Given the description of an element on the screen output the (x, y) to click on. 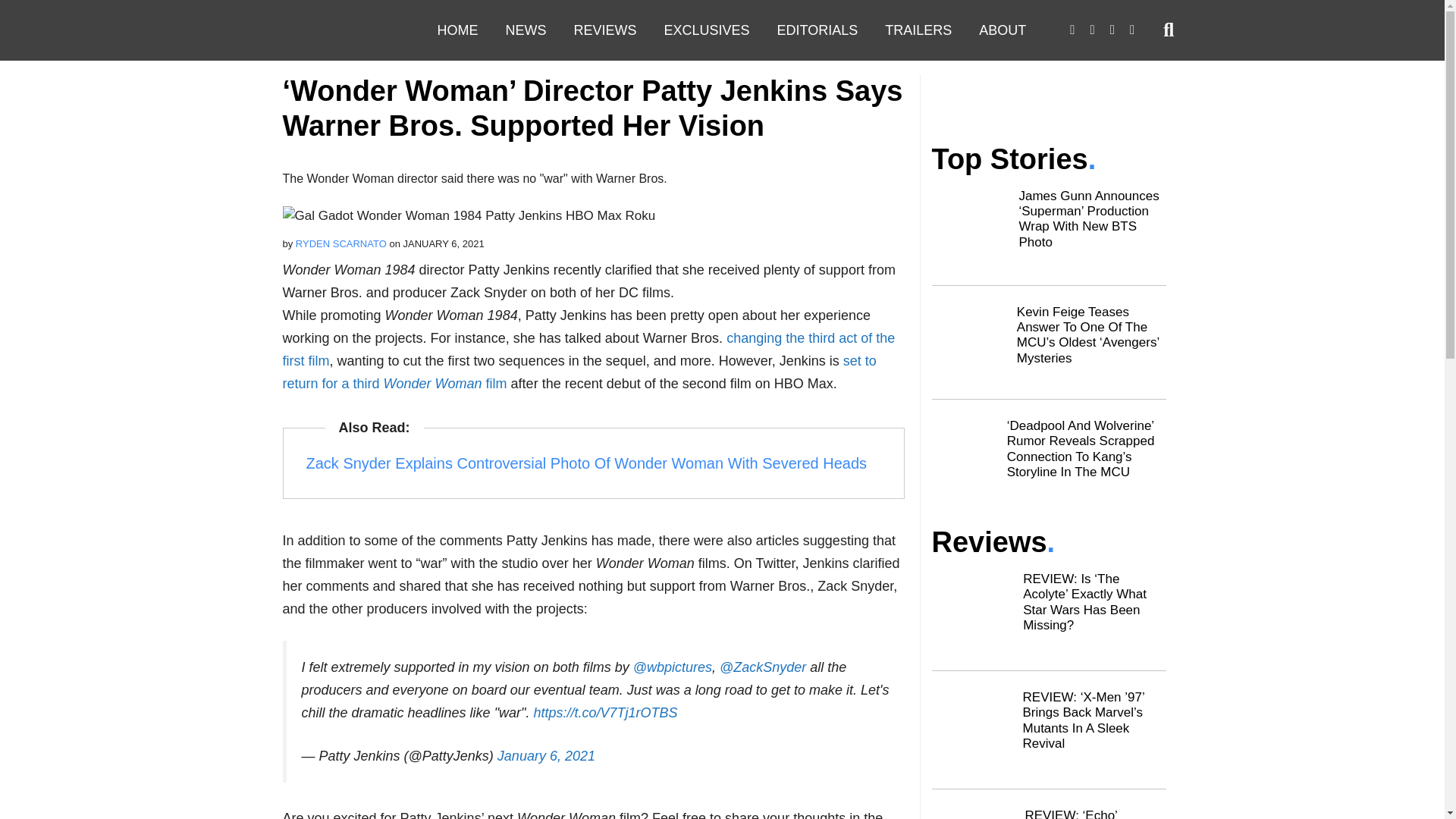
REVIEWS (604, 30)
EXCLUSIVES (706, 30)
EDITORIALS (817, 30)
TRAILERS (917, 30)
NEWS (525, 30)
ABOUT (1002, 30)
HOME (457, 30)
2021-01-06 (443, 555)
